Given the description of an element on the screen output the (x, y) to click on. 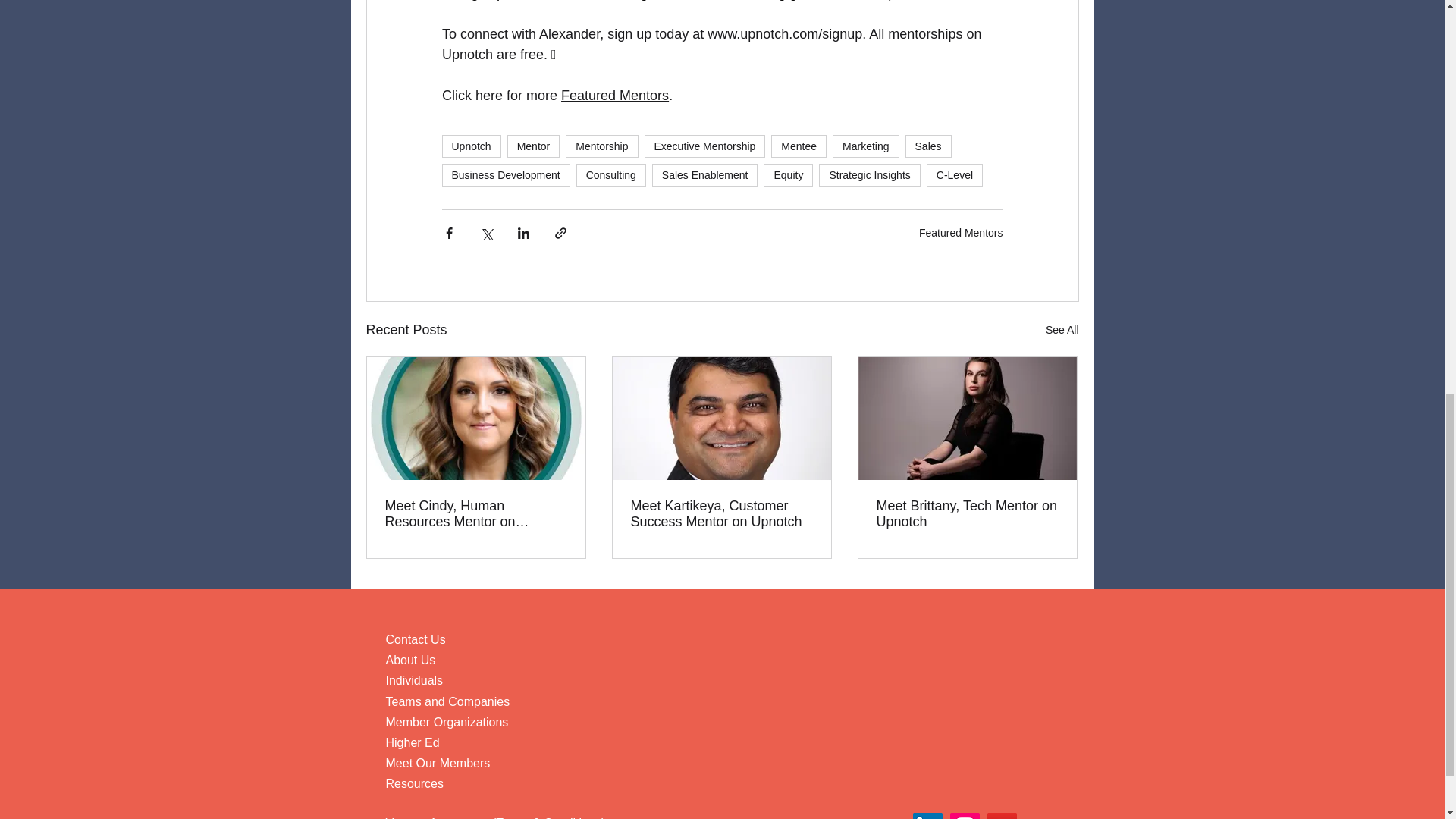
Sales Enablement (705, 174)
Equity (787, 174)
C-Level (954, 174)
Strategic Insights (869, 174)
Business Development (505, 174)
Marketing (865, 146)
Featured Mentors (960, 232)
Featured Mentors (614, 95)
Upnotch (470, 146)
Mentee (799, 146)
